Given the description of an element on the screen output the (x, y) to click on. 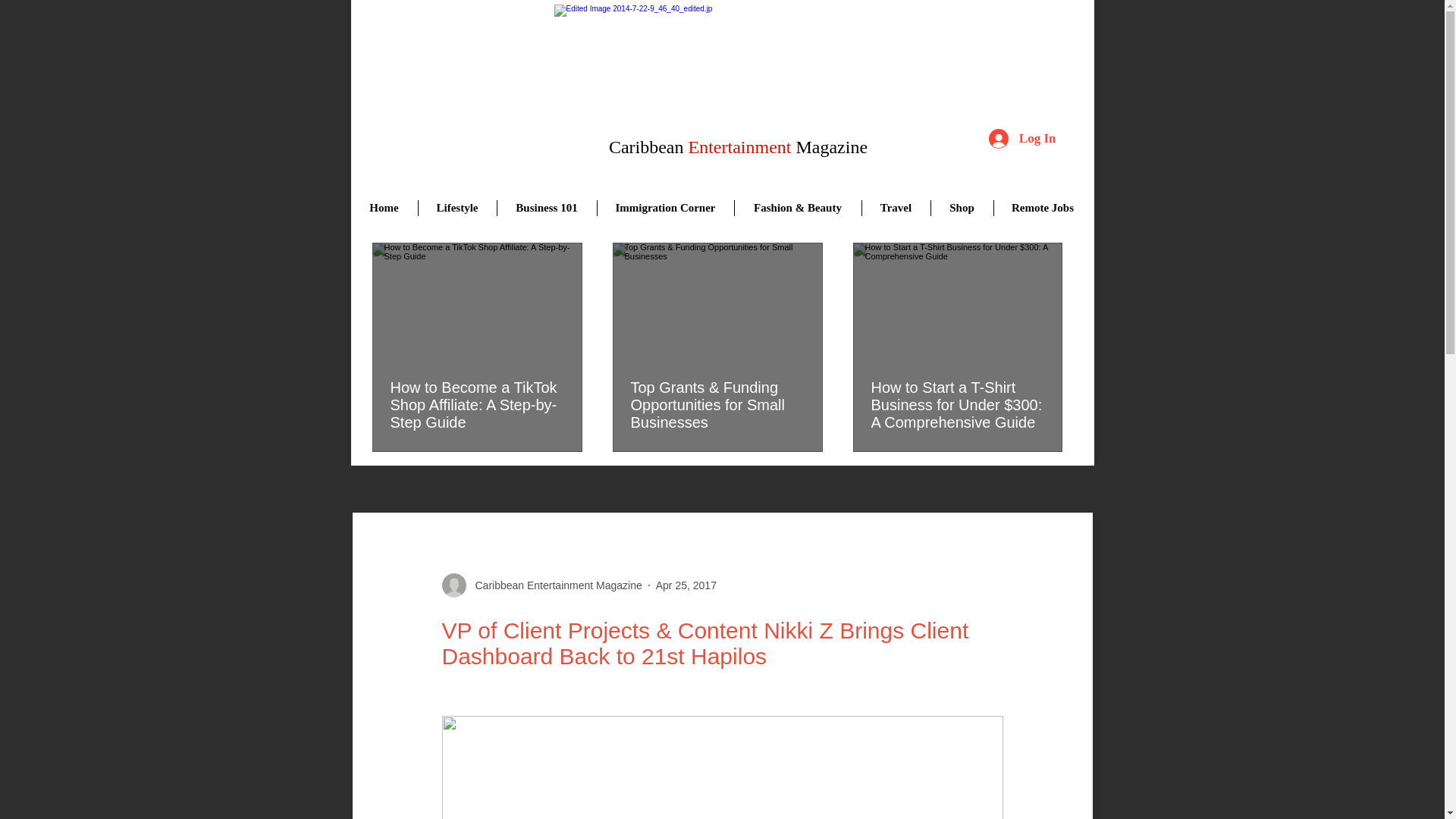
Caribbean Entertainment Magazine (553, 585)
Caribbean Entertainment Magazine (541, 585)
Remote Jobs (1042, 207)
Home (383, 207)
Immigration Corner (664, 207)
Business 101 (545, 207)
Caribbean Entertainment Magazine (733, 74)
Lifestyle (456, 207)
How to Become a TikTok Shop Affiliate: A Step-by-Step Guide (476, 404)
Travel (895, 207)
